Given the description of an element on the screen output the (x, y) to click on. 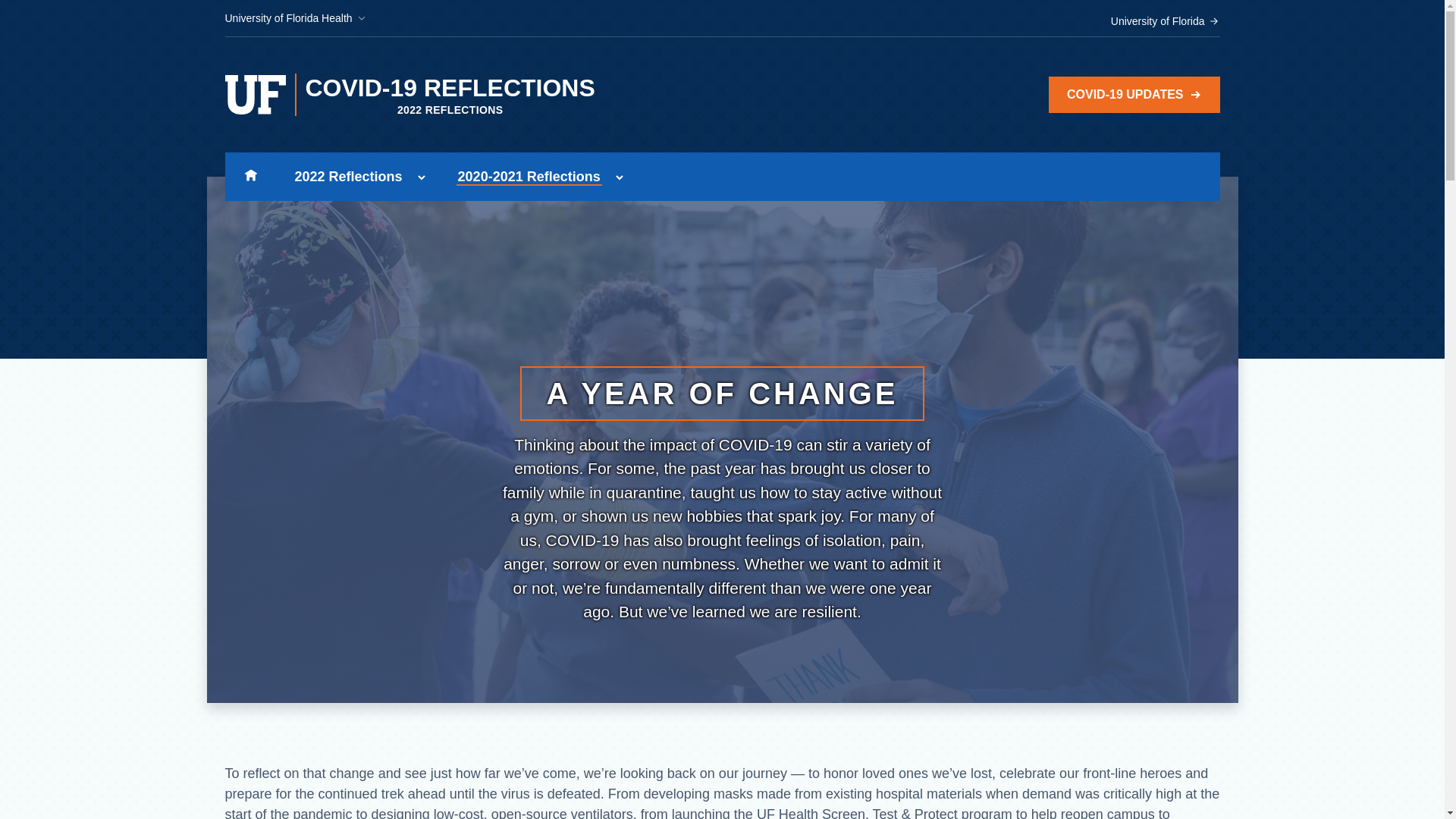
University of Florida (1165, 21)
University of Florida Health (295, 18)
